Given the description of an element on the screen output the (x, y) to click on. 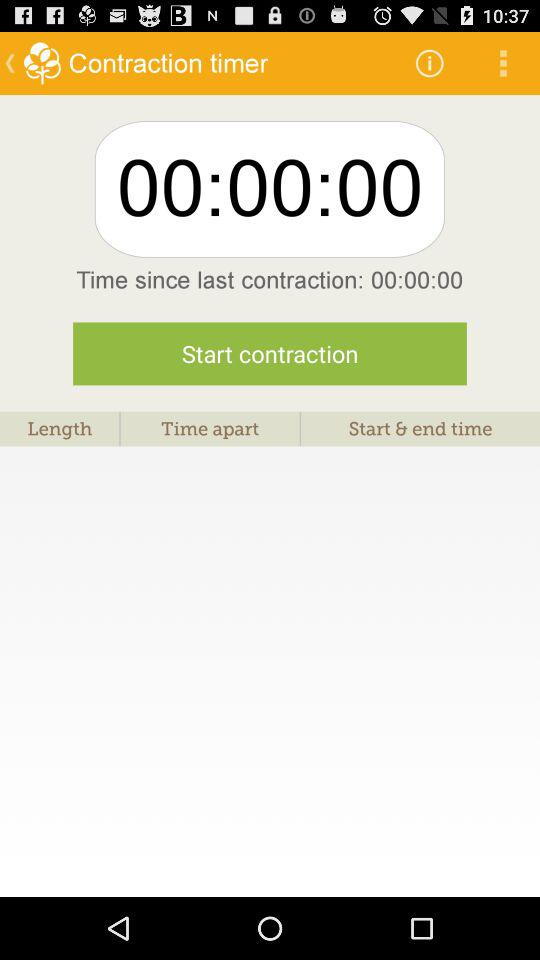
choose the item above the time since last icon (503, 62)
